Given the description of an element on the screen output the (x, y) to click on. 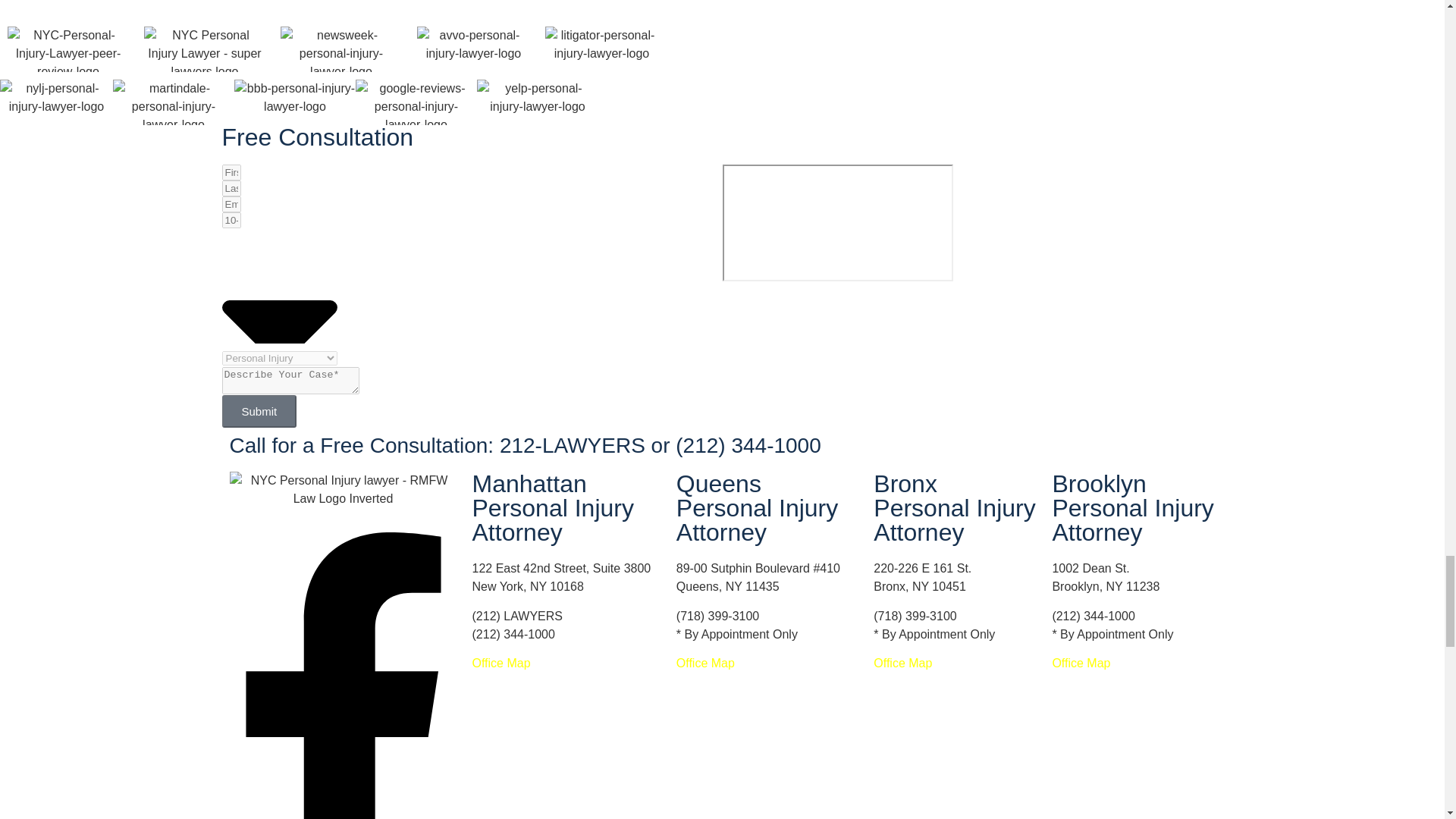
super-lawyers-personal-injury-lawyer-logo (204, 49)
avvo-personal-injury-lawyer-logo (472, 49)
newsweek-personal-injury-lawyer-logo (341, 49)
